Given the description of an element on the screen output the (x, y) to click on. 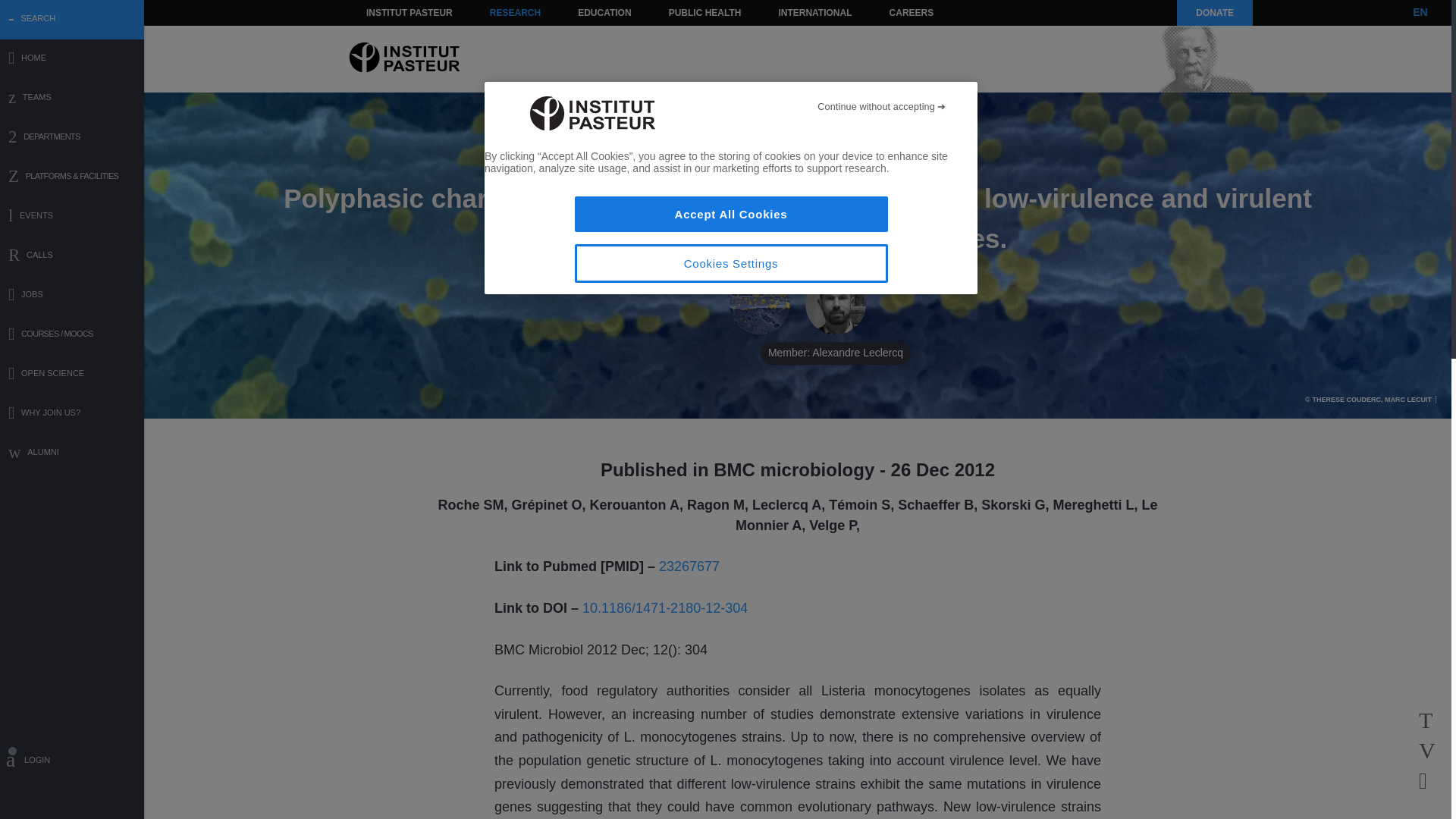
LOGIN (72, 762)
JOBS (72, 296)
EN (1419, 11)
ALUMNI (72, 454)
WHY JOIN US? (72, 413)
EDUCATION (603, 12)
INTERNATIONAL (814, 12)
DEPARTMENTS (72, 137)
DONATE (1214, 12)
PUBLIC HEALTH (705, 12)
INSTITUT PASTEUR (409, 12)
HOME (72, 59)
23267677 (689, 566)
OPEN SCIENCE (72, 374)
TEAMS (72, 98)
